Given the description of an element on the screen output the (x, y) to click on. 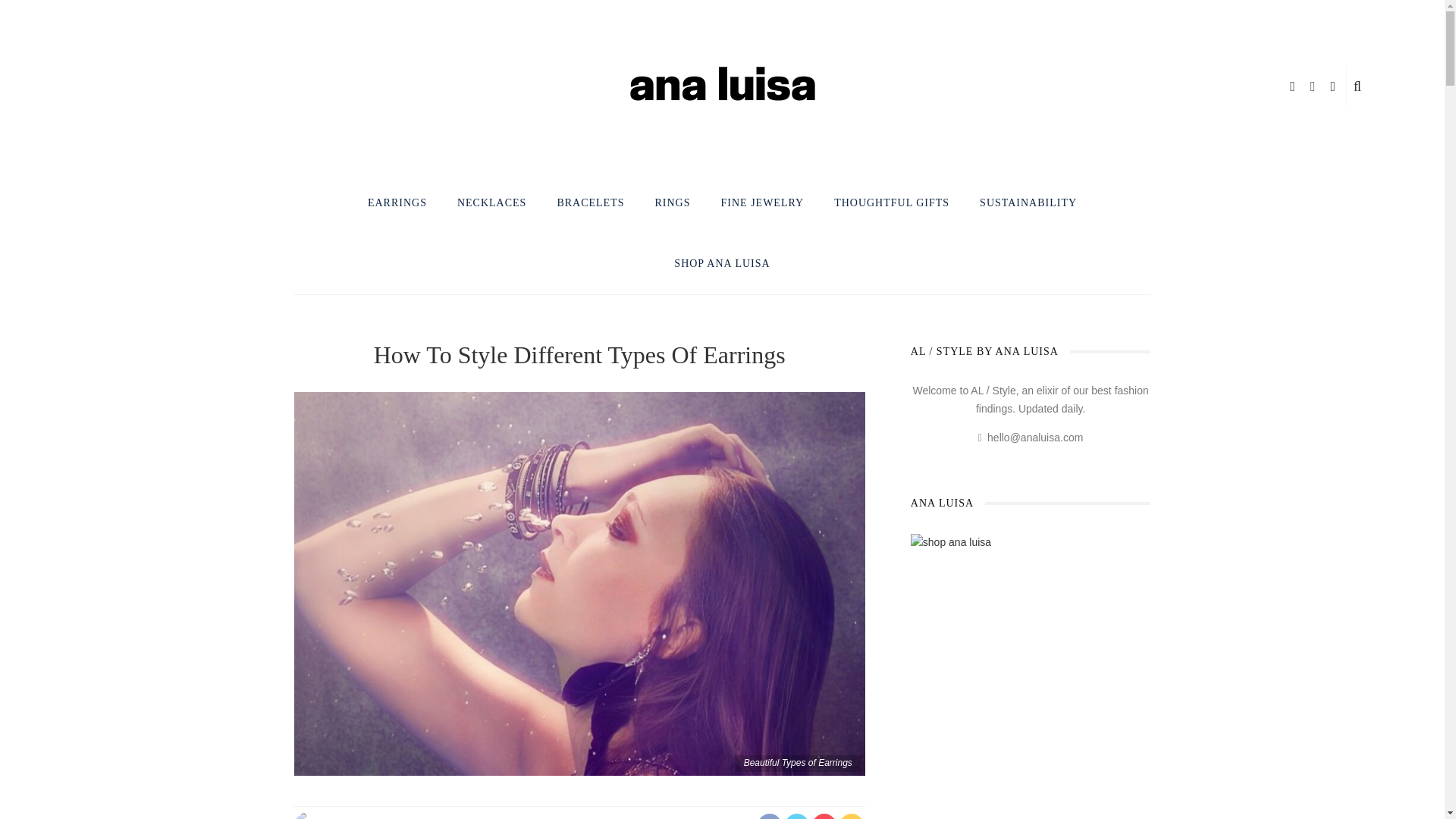
THOUGHTFUL GIFTS (890, 203)
FINE JEWELRY (762, 203)
How to style different Types of Earrings (579, 582)
Facebook (952, 12)
EARRINGS (397, 203)
BRACELETS (590, 203)
NECKLACES (491, 203)
Pinterest (963, 12)
SHOP ANA LUISA (721, 263)
RINGS (673, 203)
